Given the description of an element on the screen output the (x, y) to click on. 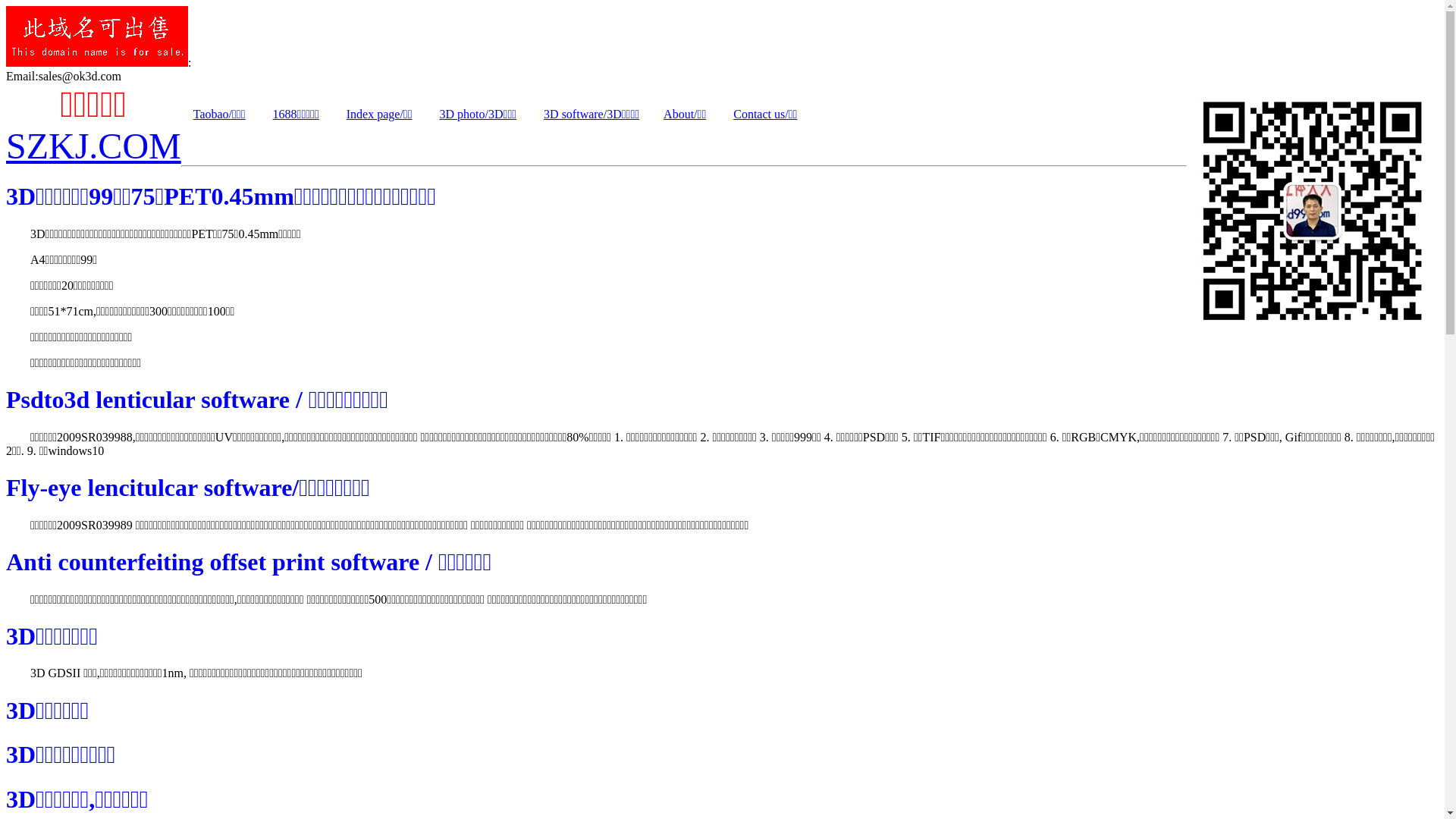
SZKJ.COM Element type: text (93, 145)
